Given the description of an element on the screen output the (x, y) to click on. 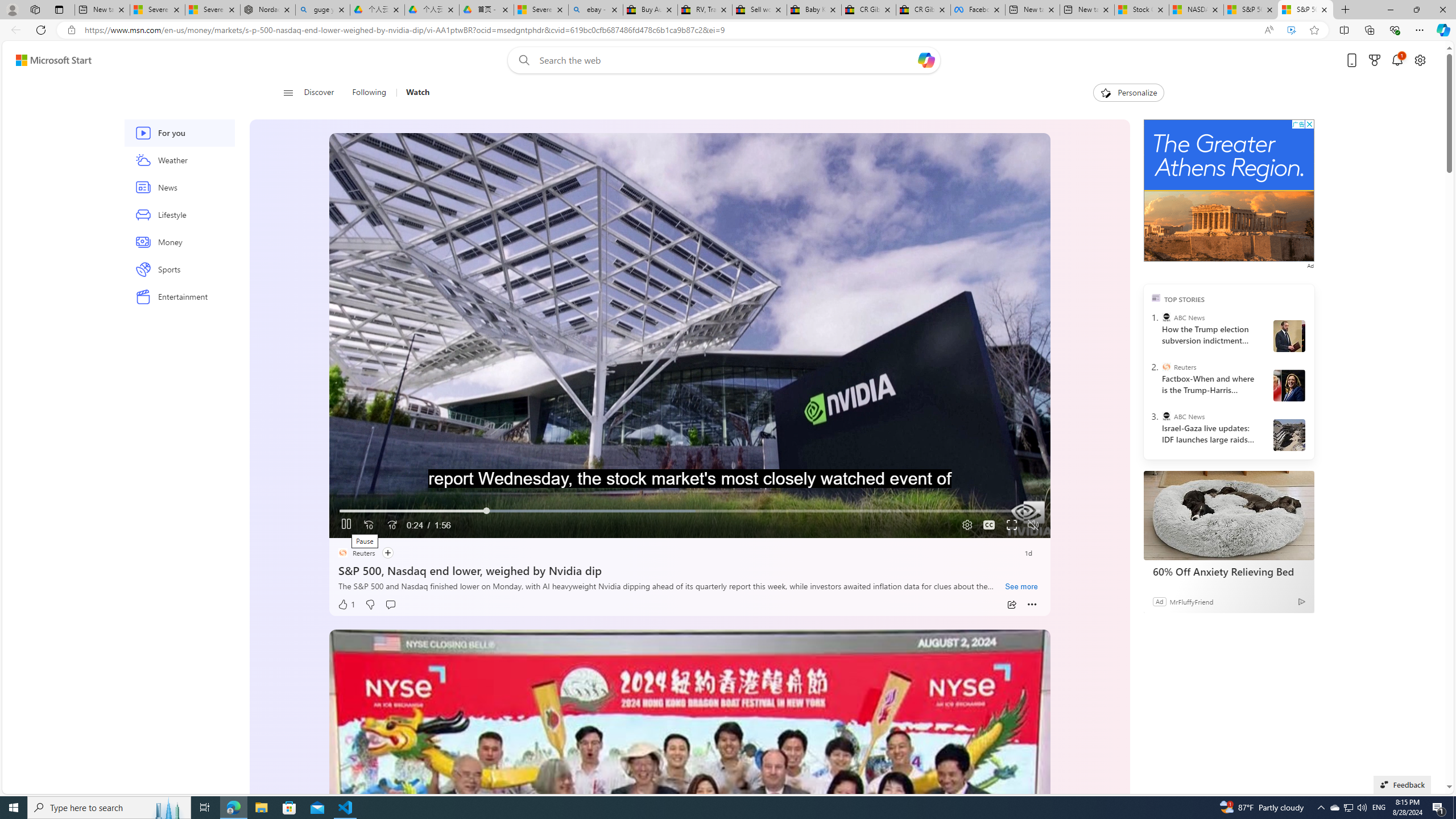
60% Off Anxiety Relieving Bed (1227, 571)
S&P 500, Nasdaq end lower, weighed by Nvidia dip | Watch (1306, 9)
guge yunpan - Search (323, 9)
Skip to footer (46, 59)
RV, Trailer & Camper Steps & Ladders for sale | eBay (704, 9)
ABC News (1165, 415)
Enter your search term (726, 59)
